Given the description of an element on the screen output the (x, y) to click on. 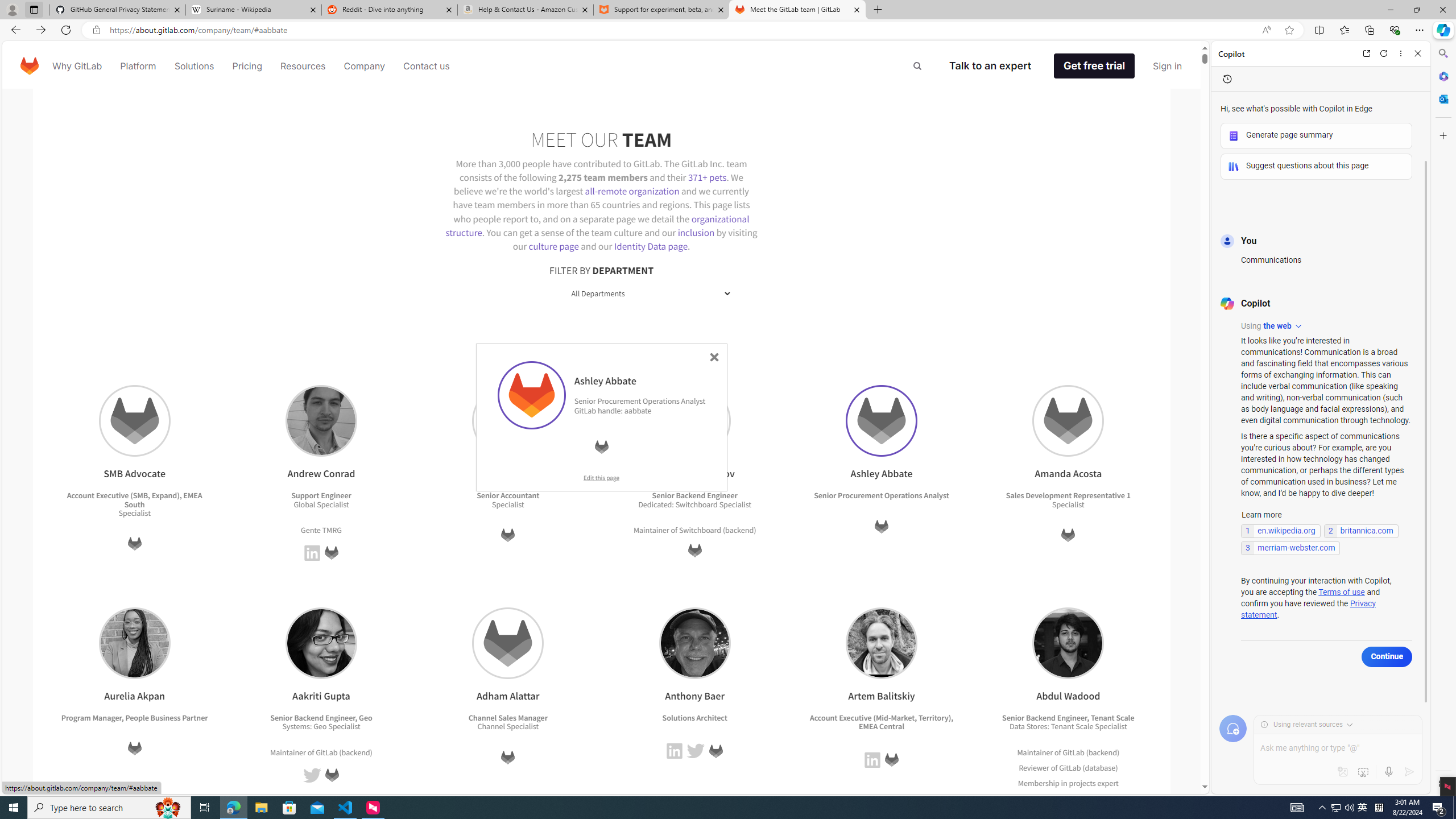
Specialist (1110, 726)
Aurelia Akpan (134, 642)
Meet the GitLab team | GitLab (797, 9)
Why GitLab (77, 65)
Gente TMRG (321, 529)
Aakriti Gupta (320, 642)
Andrey Ruzmanov (694, 420)
inclusion (695, 232)
AutomationID: navigation (601, 64)
